Given the description of an element on the screen output the (x, y) to click on. 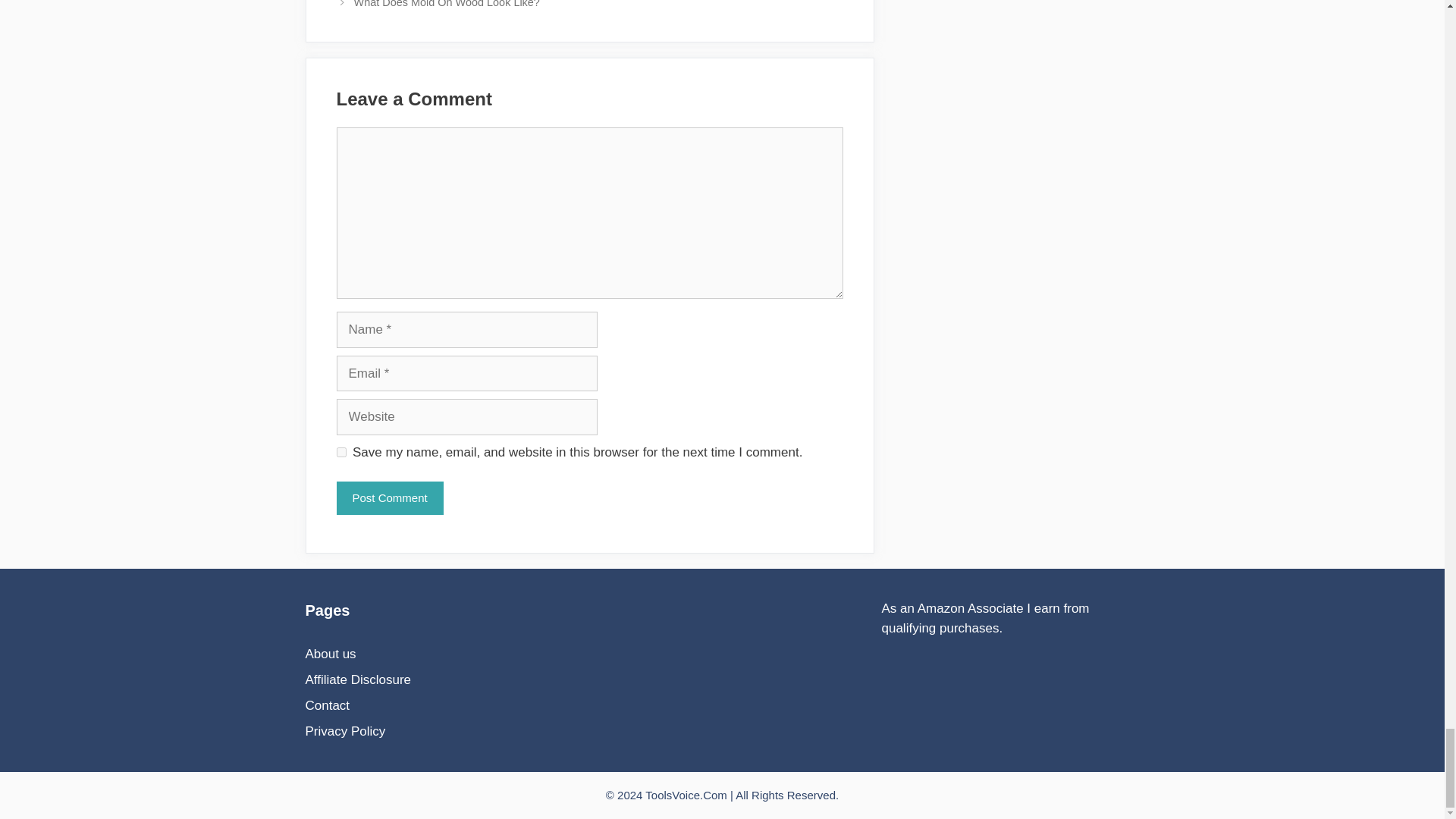
Affiliate Disclosure (357, 679)
Post Comment (390, 498)
Post Comment (390, 498)
Privacy Policy (344, 730)
About us (329, 653)
What Does Mold On Wood Look Like? (446, 4)
Contact (326, 705)
yes (341, 452)
